Given the description of an element on the screen output the (x, y) to click on. 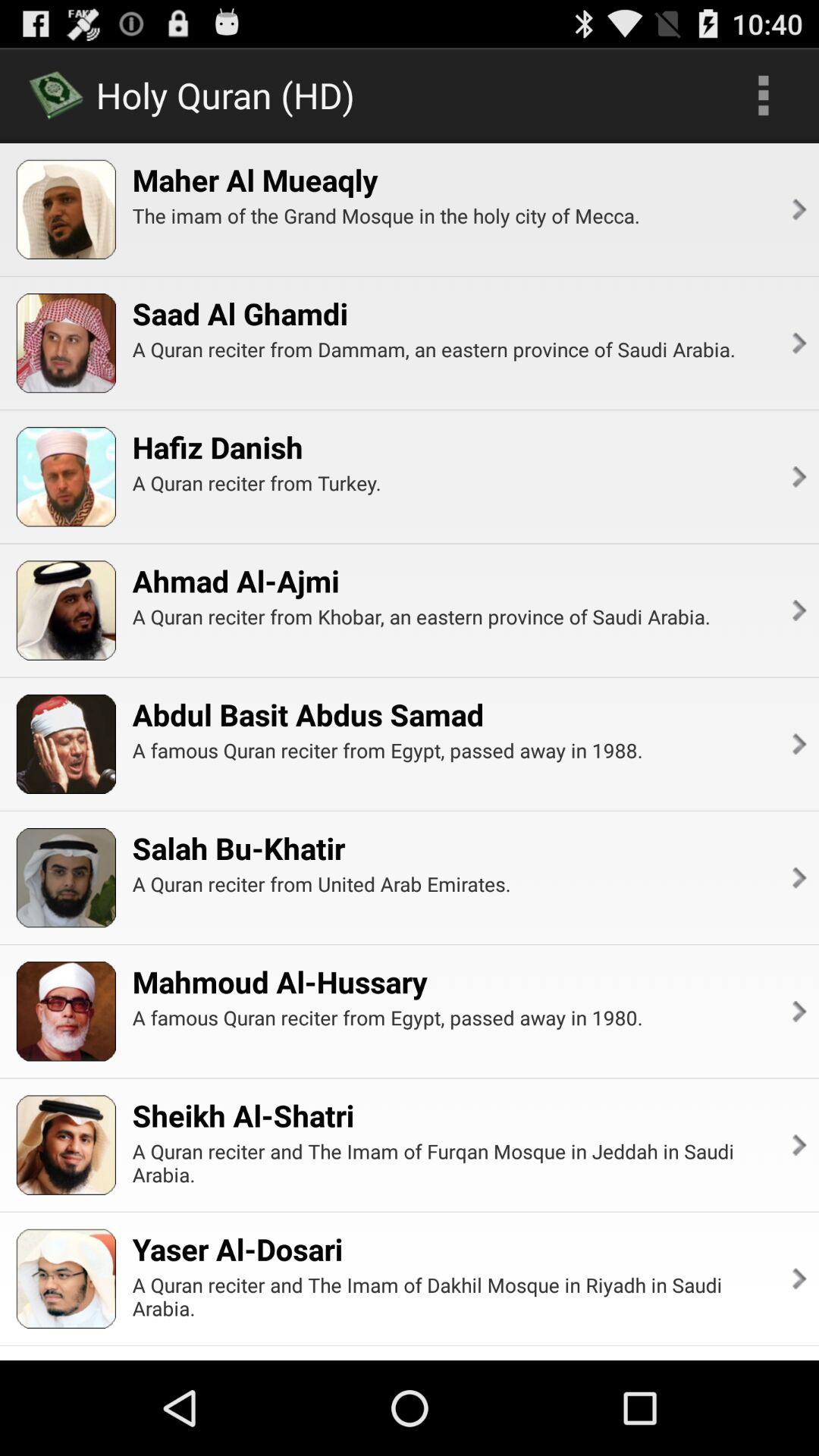
open the app below a quran reciter icon (279, 981)
